Given the description of an element on the screen output the (x, y) to click on. 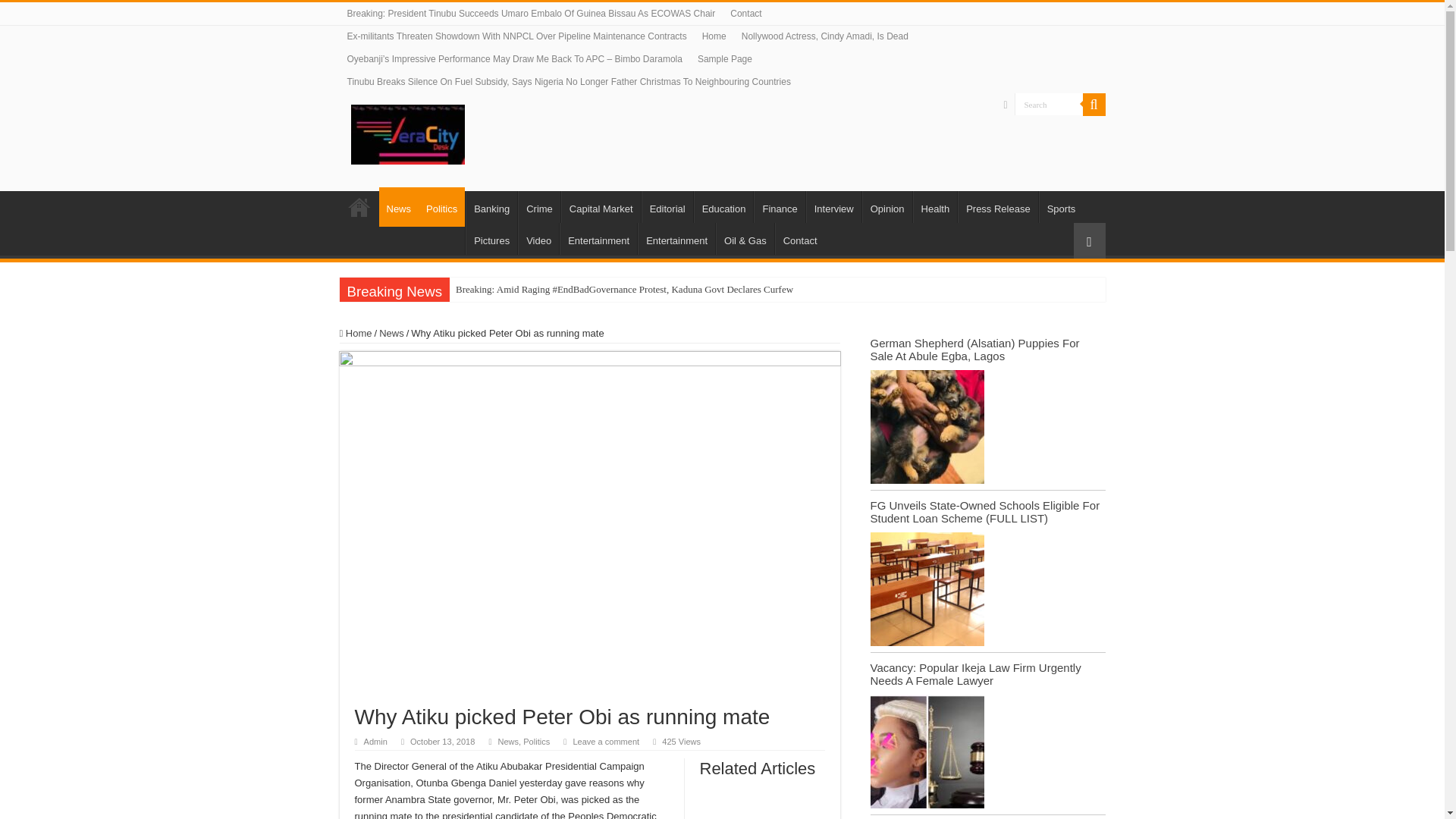
Home (358, 206)
Nollywood Actress, Cindy Amadi, Is Dead (824, 36)
Search (1048, 104)
Veracity Desk (407, 131)
Contact (745, 13)
Crime (539, 206)
Banking (490, 206)
Home (713, 36)
Politics (441, 206)
Search (1094, 104)
Capital Market (600, 206)
News (398, 206)
Search (1048, 104)
Search (1048, 104)
